Given the description of an element on the screen output the (x, y) to click on. 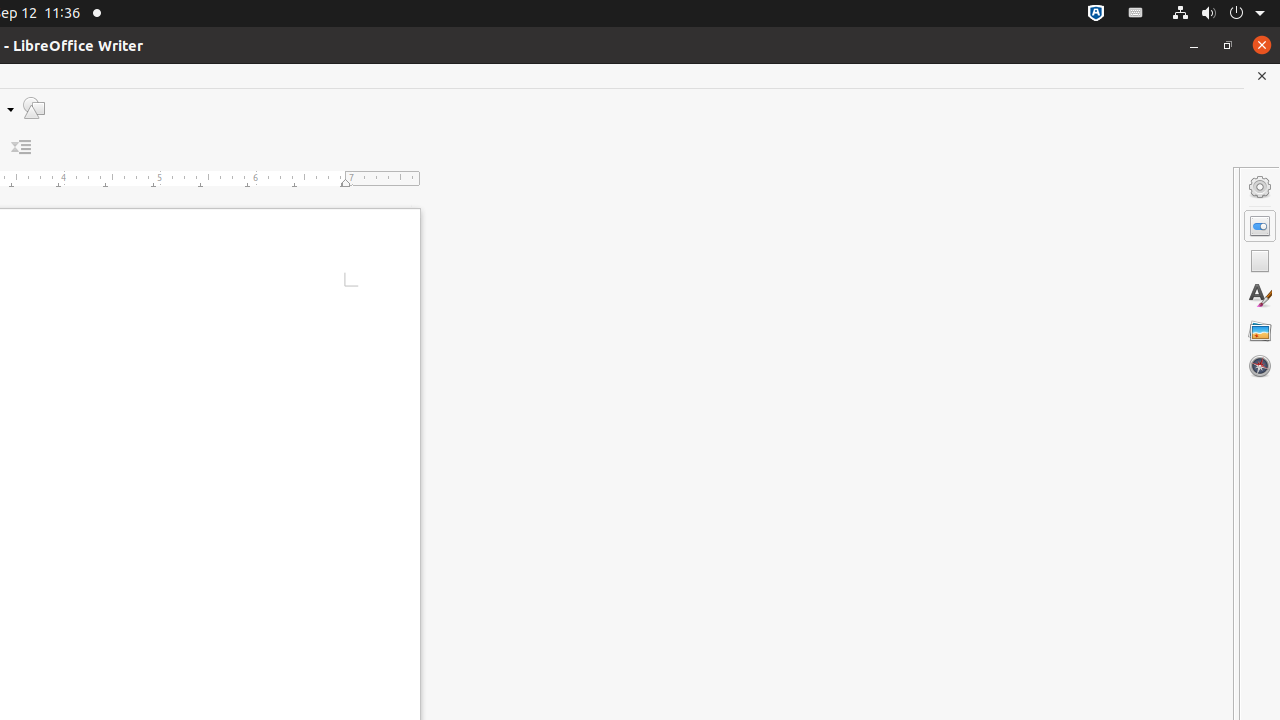
Properties Element type: radio-button (1260, 226)
Styles Element type: radio-button (1260, 296)
Decrease Element type: push-button (21, 147)
Gallery Element type: radio-button (1260, 331)
org.kde.StatusNotifierItem-14077-1 Element type: menu (1136, 13)
